Given the description of an element on the screen output the (x, y) to click on. 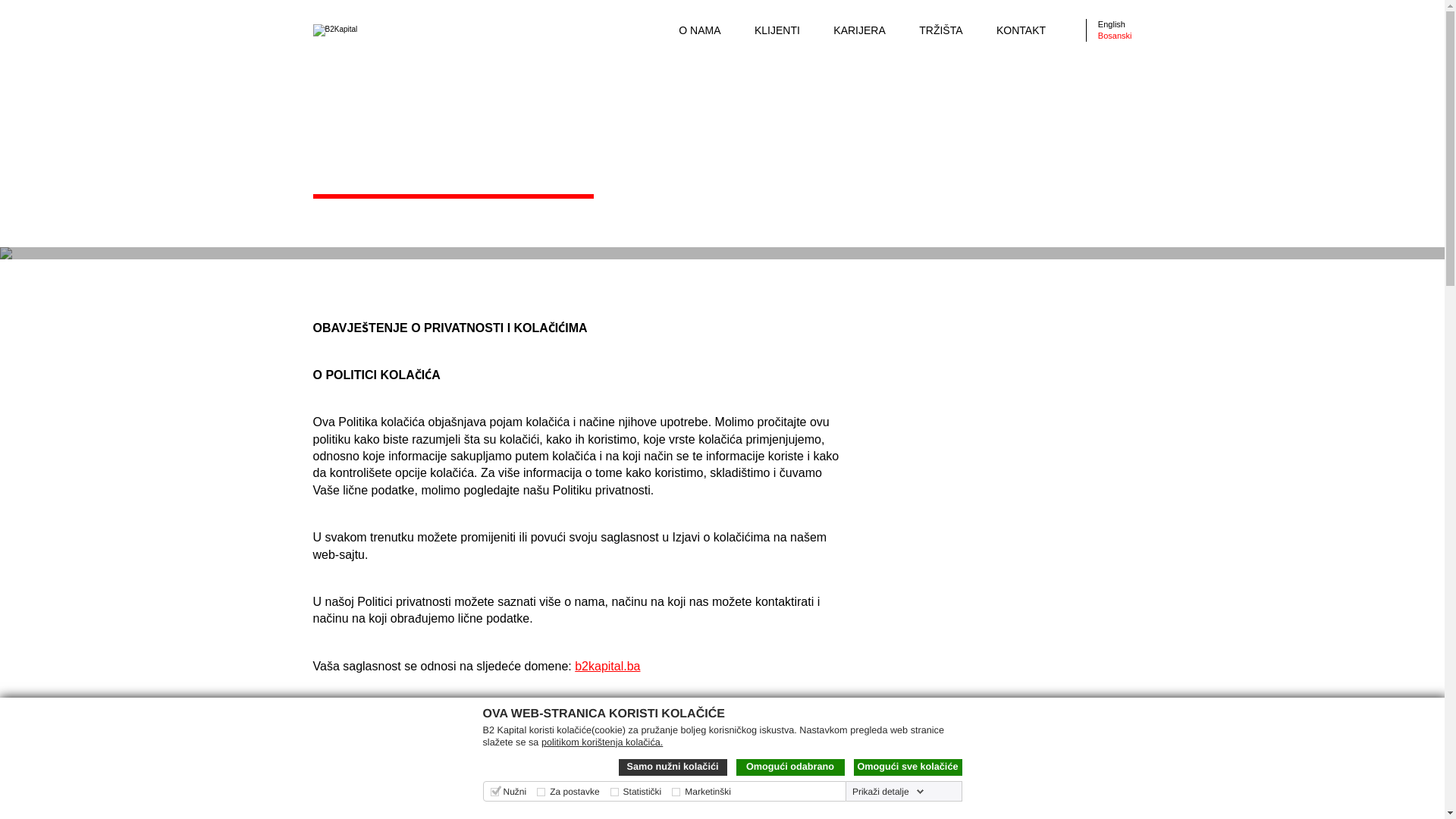
O NAMA Element type: text (699, 29)
b2kapital.ba Element type: text (607, 665)
English Element type: text (1111, 23)
Bosanski Element type: text (1115, 35)
KLIJENTI Element type: text (777, 29)
KARIJERA Element type: text (858, 29)
KONTAKT Element type: text (1020, 29)
